Given the description of an element on the screen output the (x, y) to click on. 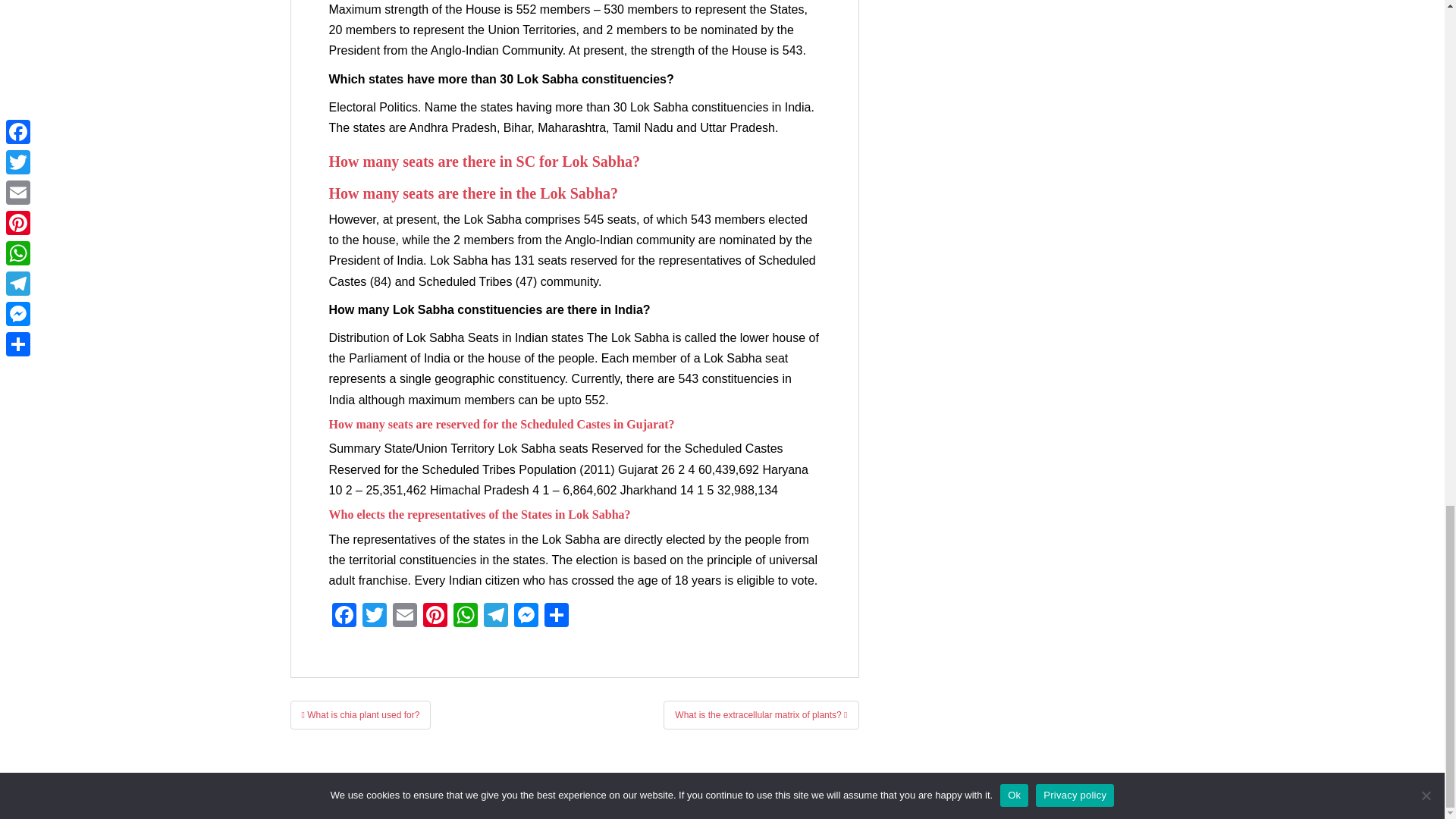
What is the extracellular matrix of plants? (761, 715)
Pinterest (434, 616)
Messenger (526, 616)
Facebook (344, 616)
WhatsApp (464, 616)
Twitter (374, 616)
Messenger (526, 616)
Email (405, 616)
Facebook (344, 616)
Email (405, 616)
Telegram (495, 616)
Pinterest (434, 616)
What is chia plant used for? (359, 715)
Twitter (374, 616)
Share (556, 616)
